Given the description of an element on the screen output the (x, y) to click on. 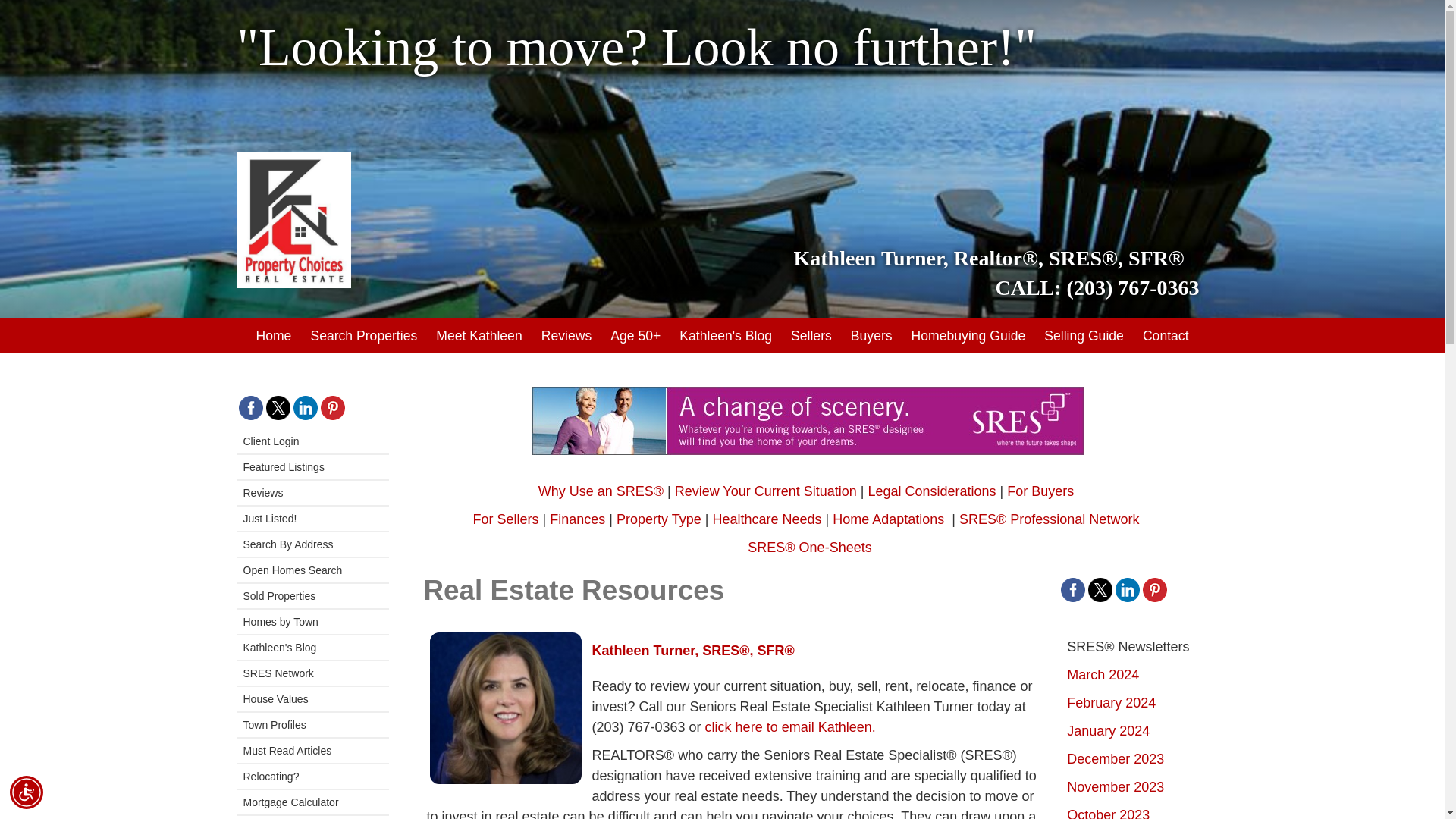
Buyers (871, 335)
Featured Listings (311, 467)
Just Listed! (311, 519)
Meet Kathleen (478, 335)
SRES Network (311, 673)
Open Homes Search (311, 570)
Selling Guide (1083, 335)
Sellers (810, 335)
House Values (311, 699)
Mortgage Calculator (311, 802)
Contact (1165, 335)
Client Login (311, 442)
Kathleen's Blog (725, 335)
Reviews (566, 335)
Sold Properties (311, 596)
